Given the description of an element on the screen output the (x, y) to click on. 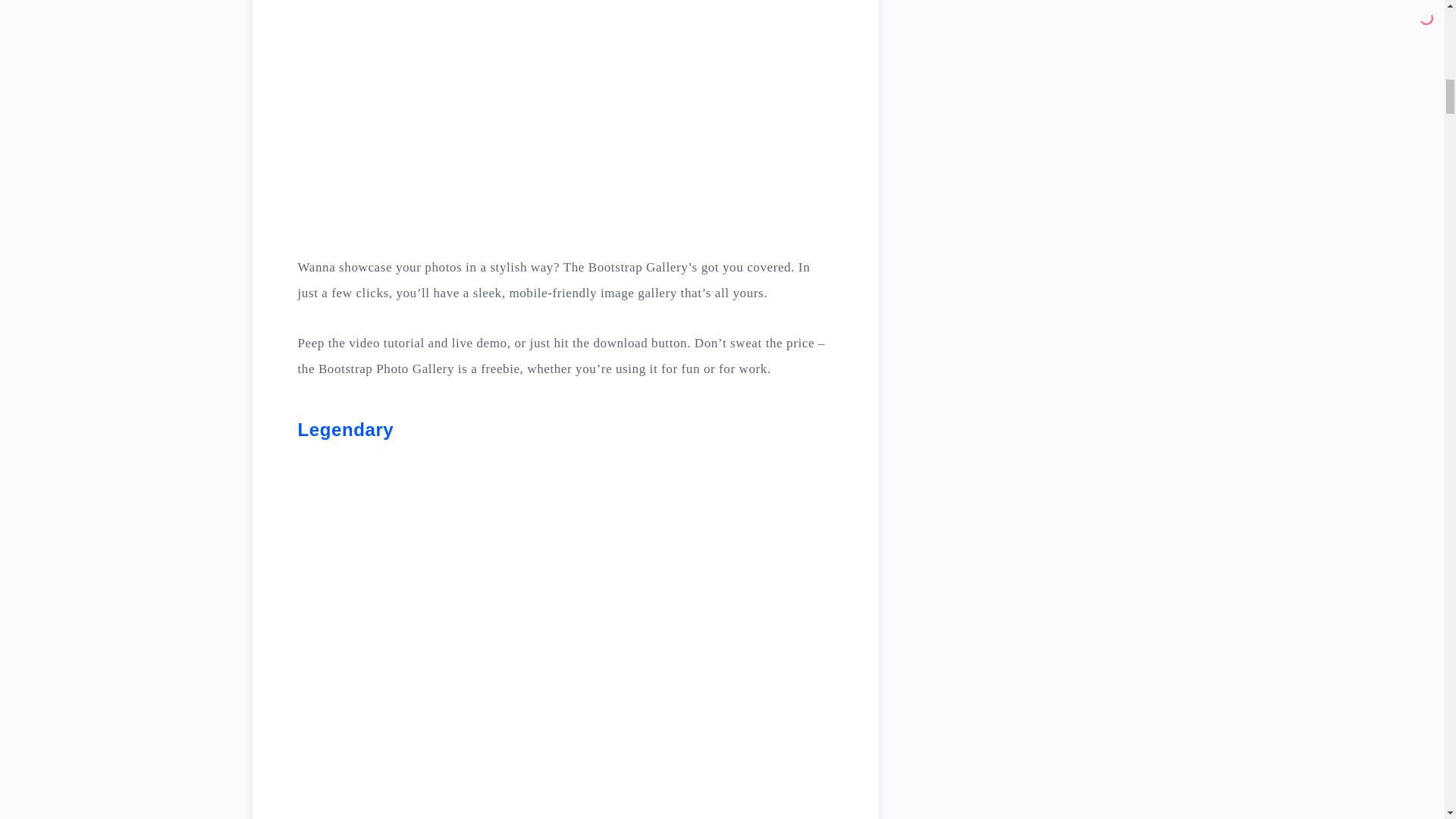
Legendary (345, 429)
